Given the description of an element on the screen output the (x, y) to click on. 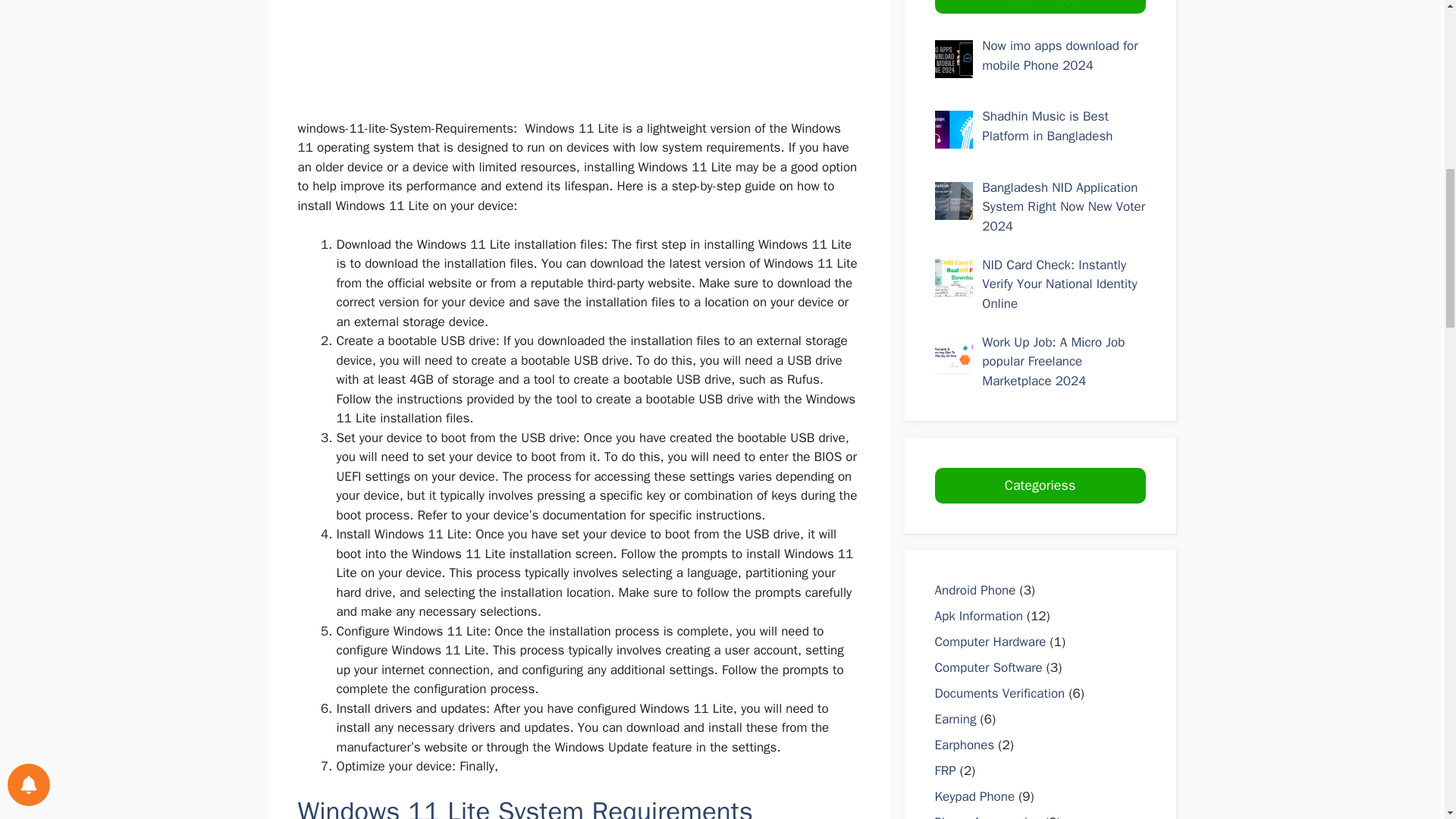
Apk Information (978, 616)
Earning (954, 719)
Advertisement (585, 56)
Shadhin Music is Best Platform in Bangladesh (1046, 126)
Documents Verification (999, 693)
FRP (944, 770)
Keypad Phone (974, 796)
Now imo apps download for mobile Phone 2024 (1059, 55)
Work Up Job: A Micro Job popular Freelance Marketplace 2024 (1052, 361)
Phone Accessories (987, 816)
